Given the description of an element on the screen output the (x, y) to click on. 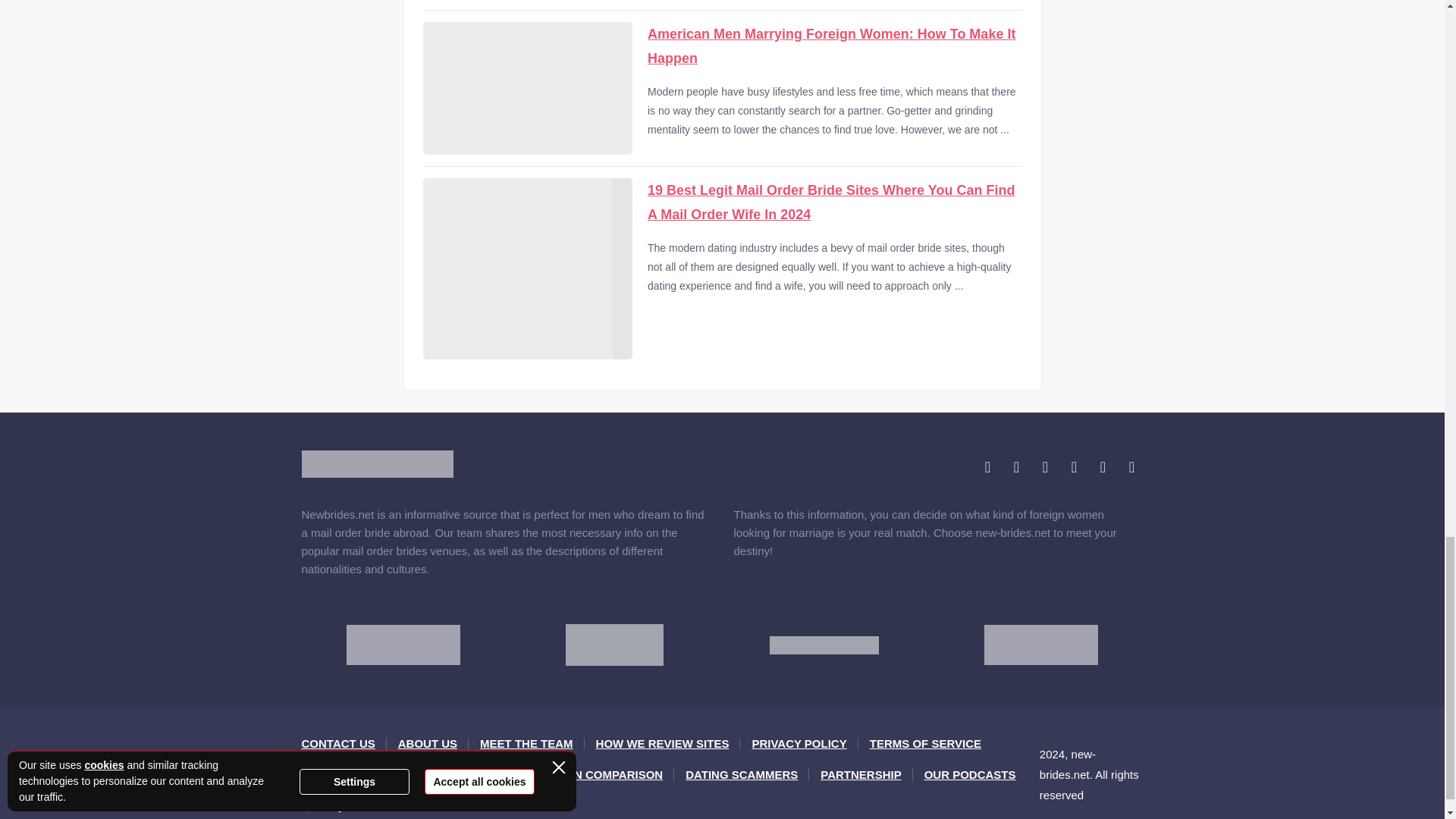
Follow us on Tiktok (1131, 466)
Follow us on Twitter (1016, 466)
Follow us on Facebook (987, 466)
Follow us on Youtube (1103, 466)
Follow us on Instagram (1045, 466)
Follow us on Pinterest (1074, 466)
